Given the description of an element on the screen output the (x, y) to click on. 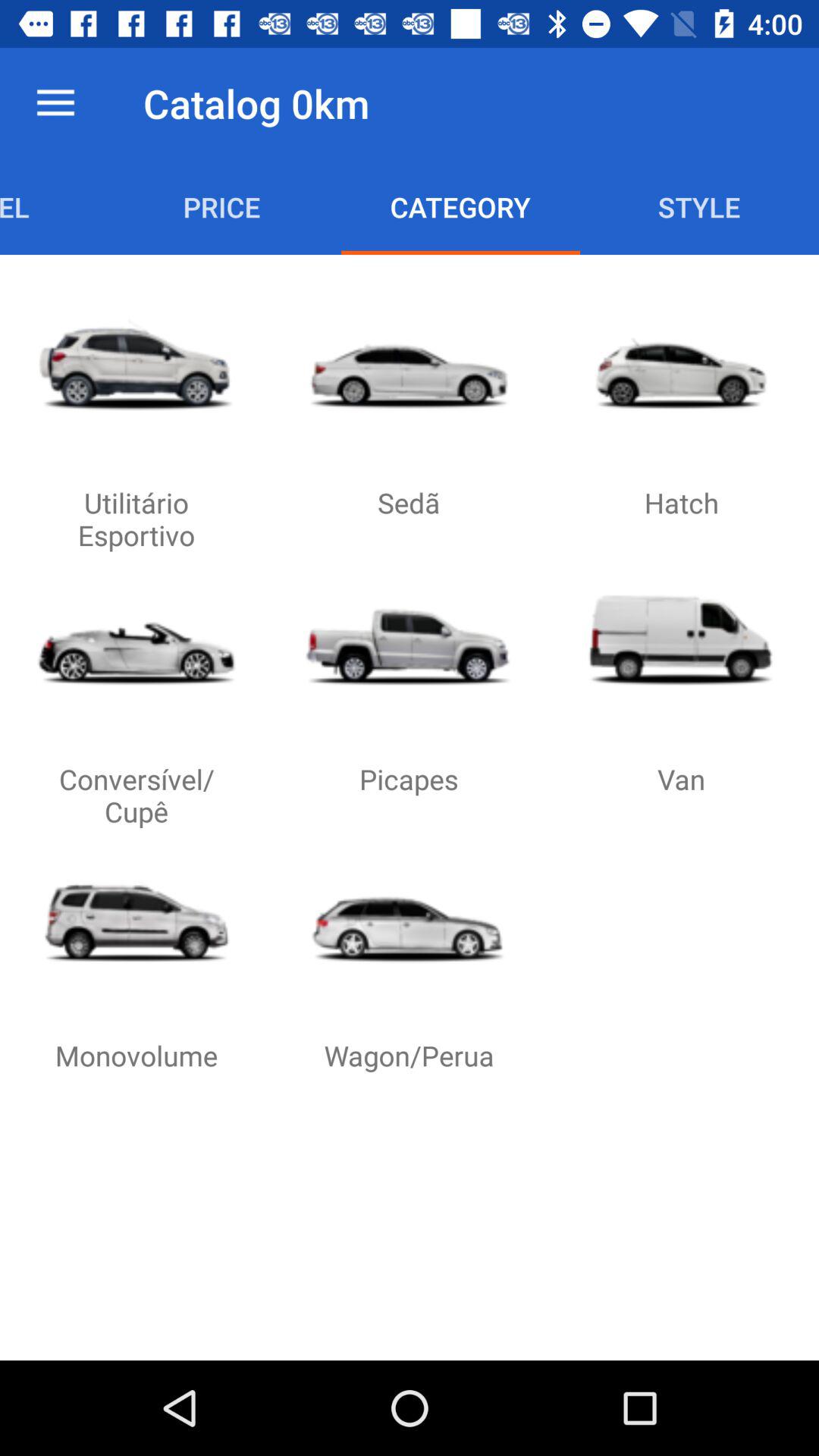
click on price (221, 206)
click on the image of a van (680, 640)
select the image above the text hatch (680, 364)
select the first image in the second row (136, 640)
click  on second  pic from the second row (408, 640)
select the image which is just below the style (680, 364)
select the text category the bold letters (460, 206)
